Given the description of an element on the screen output the (x, y) to click on. 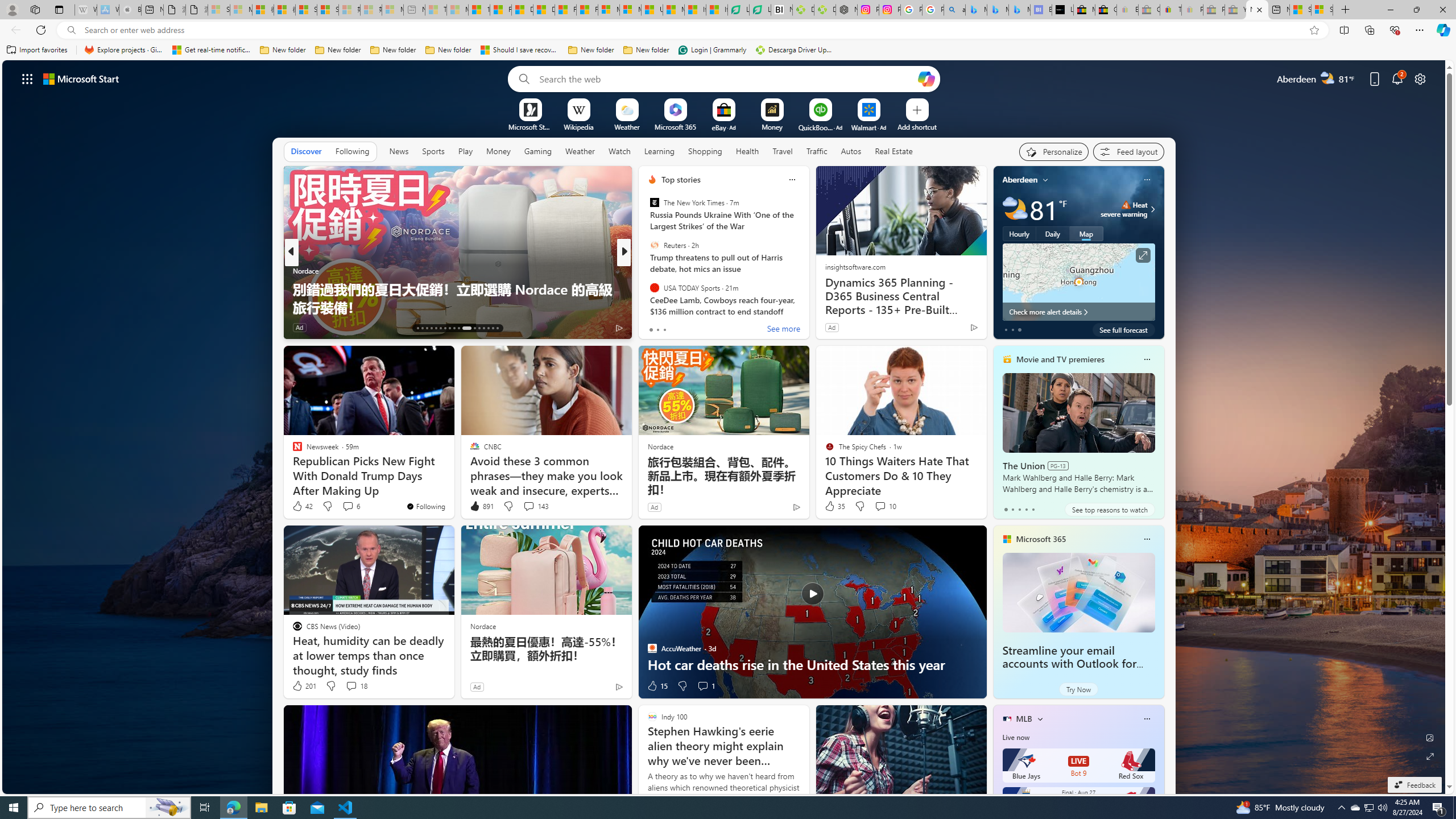
Shopping (705, 151)
View comments 3 Comment (705, 327)
Traffic (816, 151)
Lifestyle Trends (647, 288)
Descarga Driver Updater (794, 49)
More interests (1039, 718)
Hourly (1018, 233)
Nordace - Nordace Edin Collection (846, 9)
tab-1 (1012, 509)
MLB (1024, 718)
Hey She Thrives (647, 288)
